Given the description of an element on the screen output the (x, y) to click on. 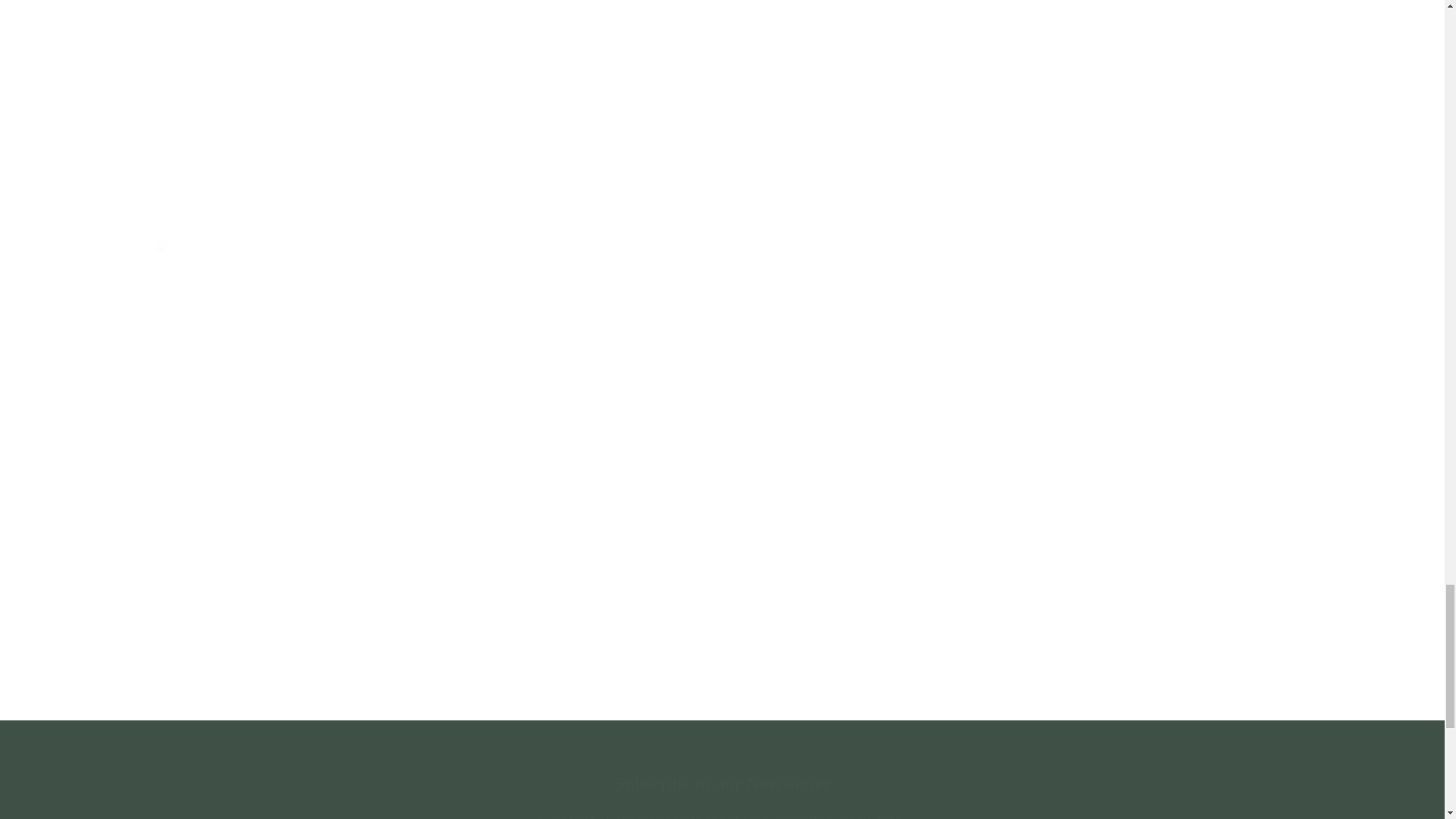
Subscribe to our Newsletter (721, 783)
